Given the description of an element on the screen output the (x, y) to click on. 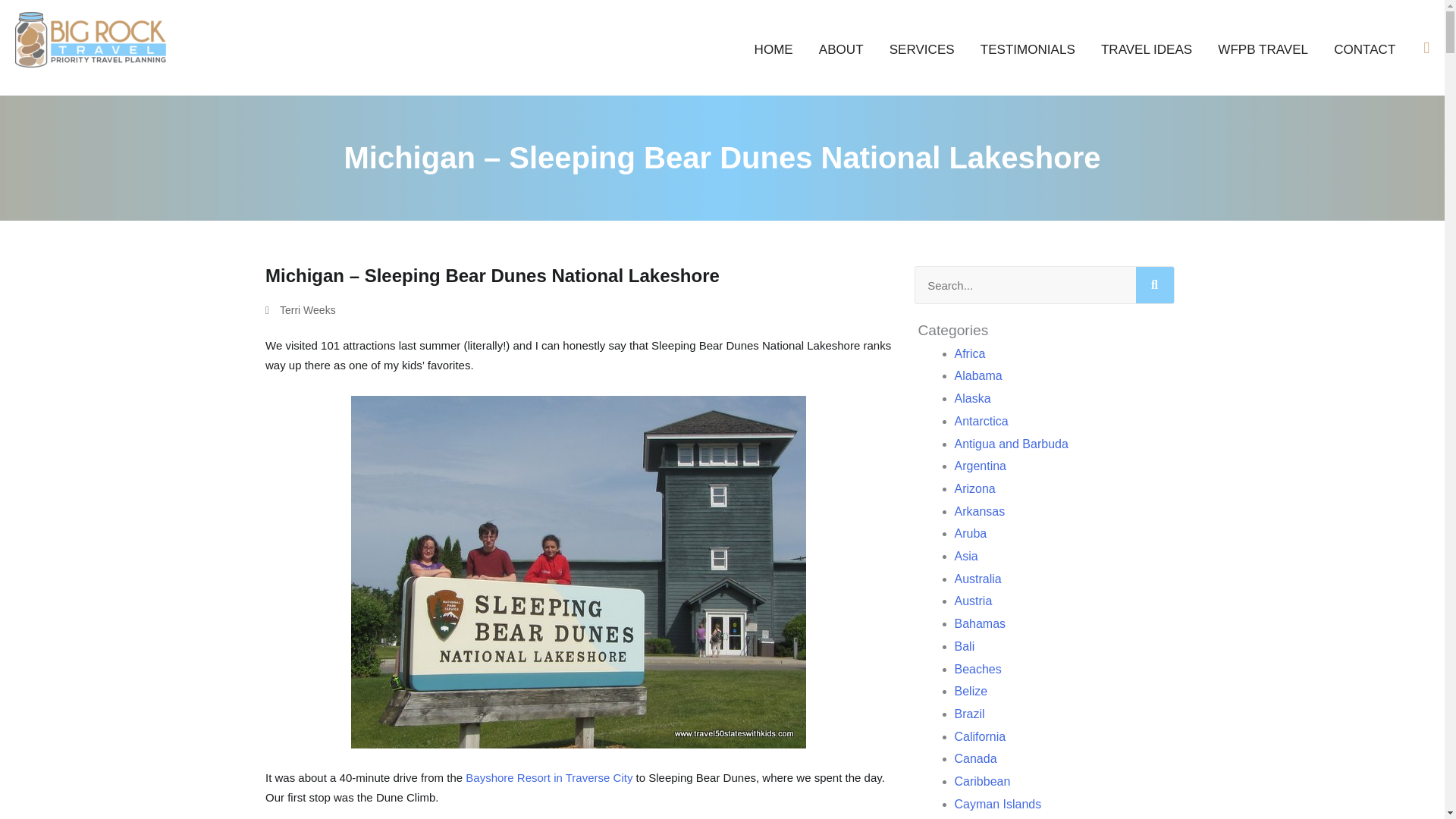
SERVICES (922, 48)
WFPB TRAVEL (1262, 48)
ABOUT (841, 48)
TRAVEL IDEAS (1146, 48)
TESTIMONIALS (1027, 48)
HOME (773, 48)
CONTACT (1363, 48)
